Given the description of an element on the screen output the (x, y) to click on. 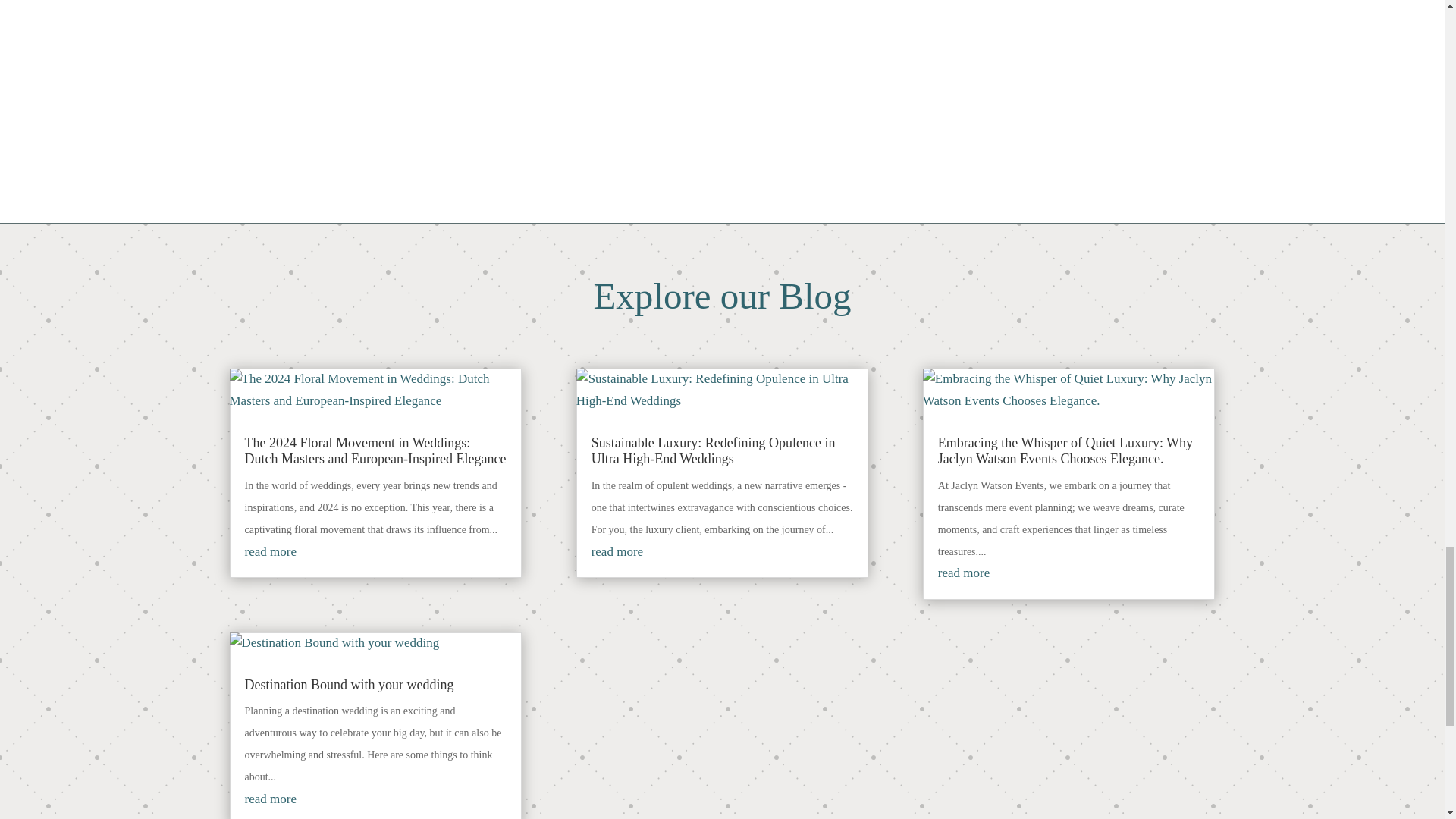
Destination Bound with your wedding (348, 684)
read more (269, 551)
read more (269, 798)
